Given the description of an element on the screen output the (x, y) to click on. 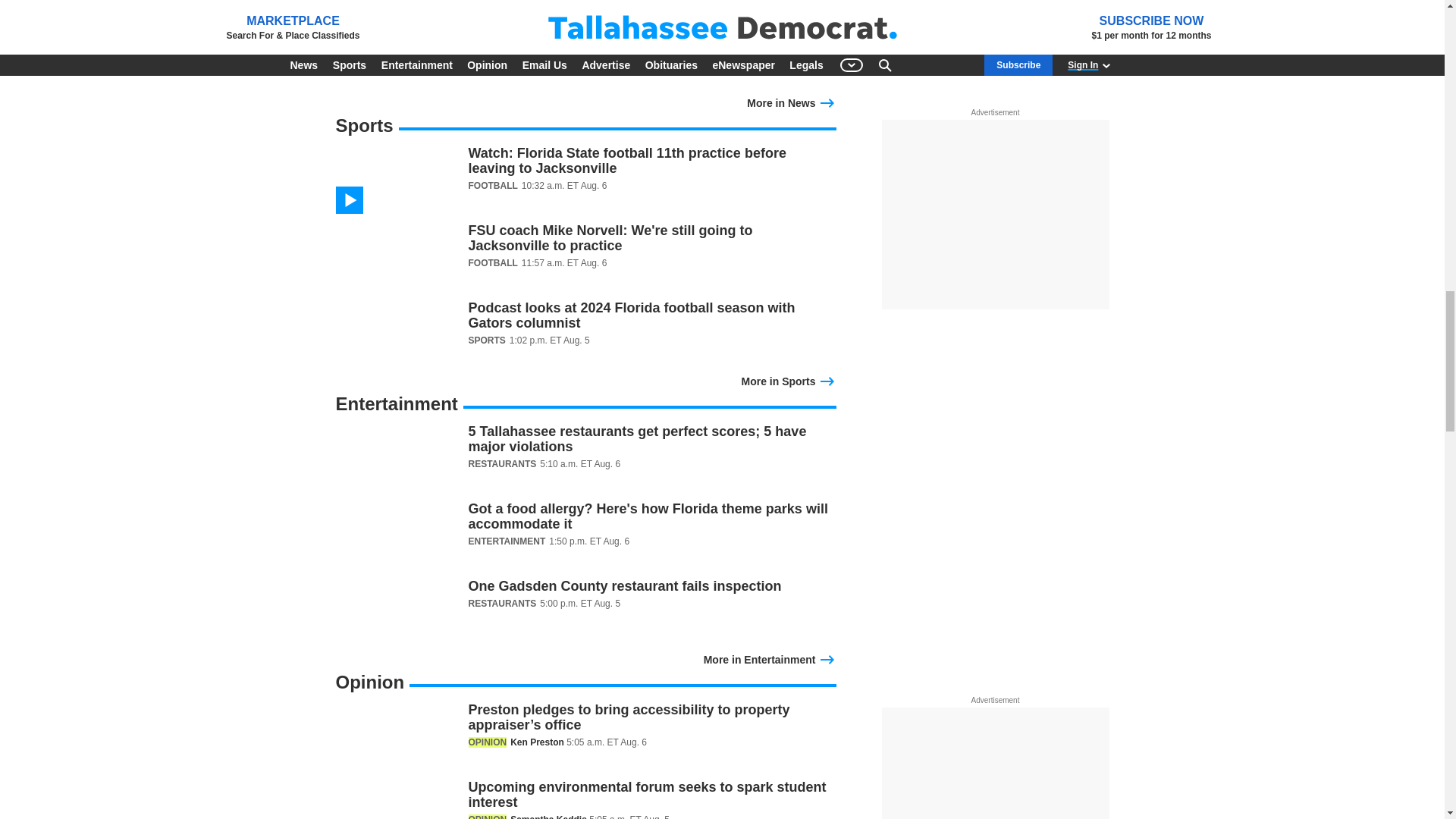
More in Sports (788, 379)
More in News (790, 101)
One Gadsden County restaurant fails inspection  (584, 612)
